Given the description of an element on the screen output the (x, y) to click on. 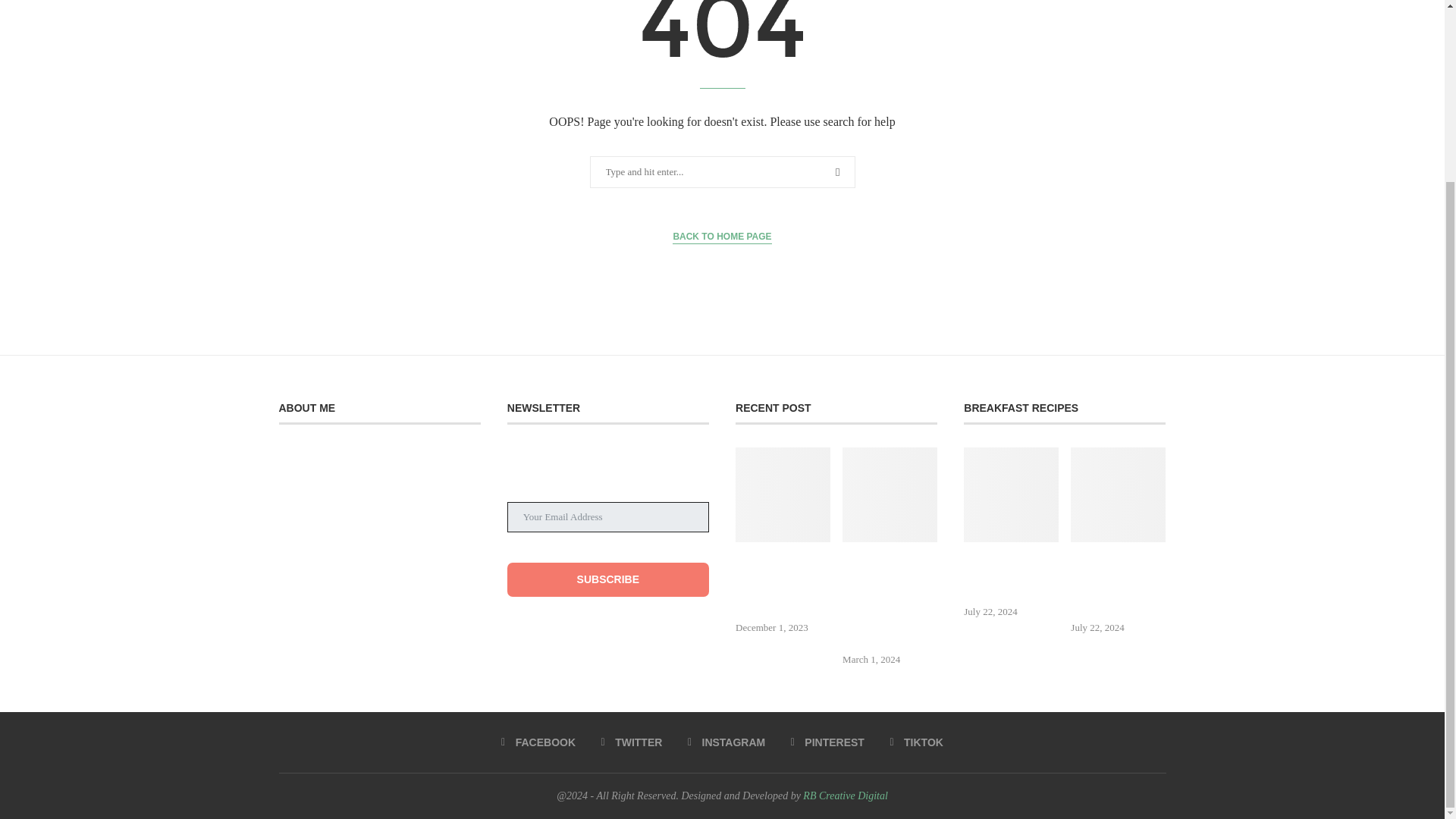
8 Best Air Fryer Egg Recipes You Would Love (1010, 577)
8 Best Air Fryer Egg Recipes You Would Love (1010, 494)
